Given the description of an element on the screen output the (x, y) to click on. 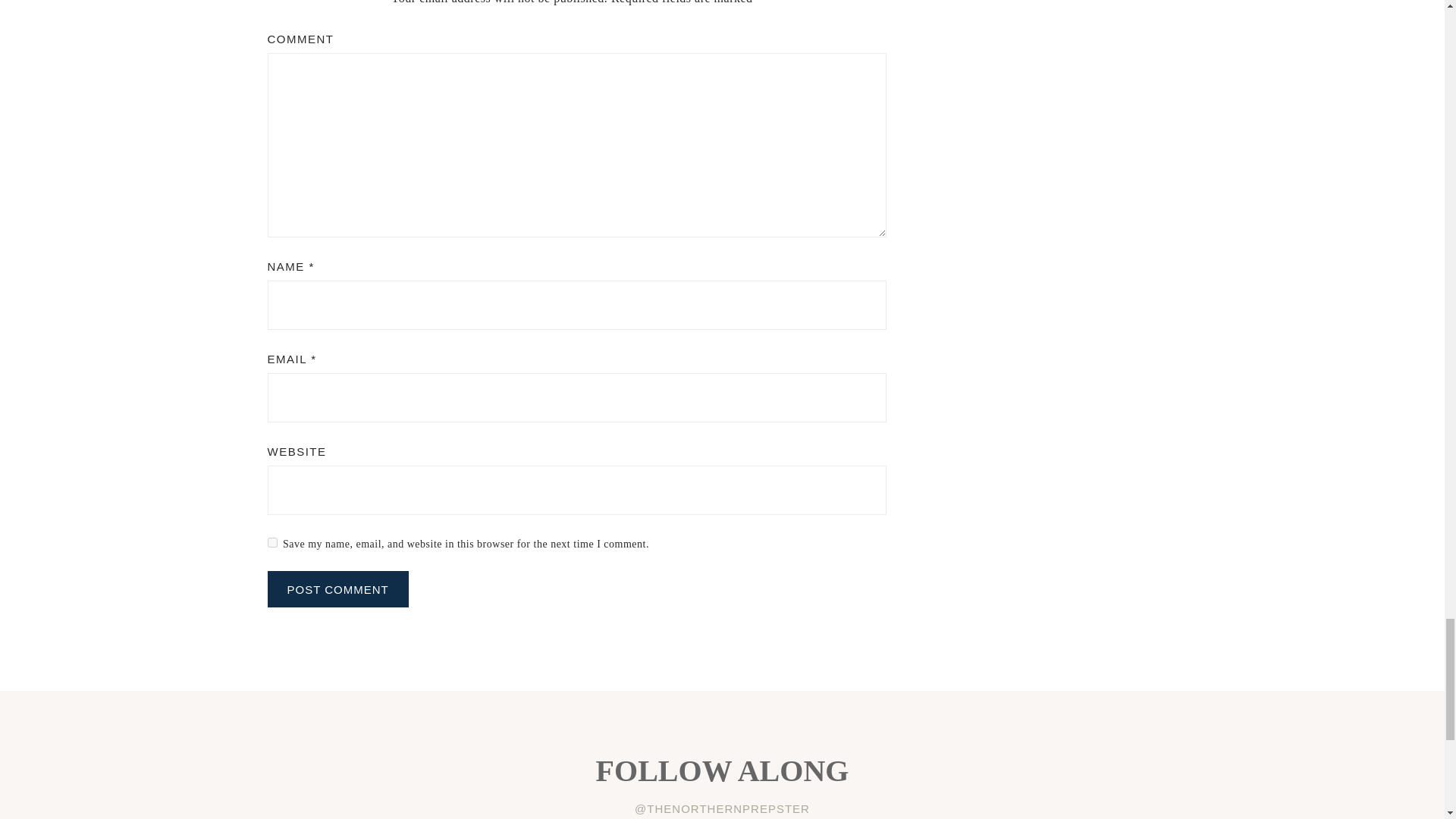
yes (271, 542)
Post Comment (336, 588)
